Given the description of an element on the screen output the (x, y) to click on. 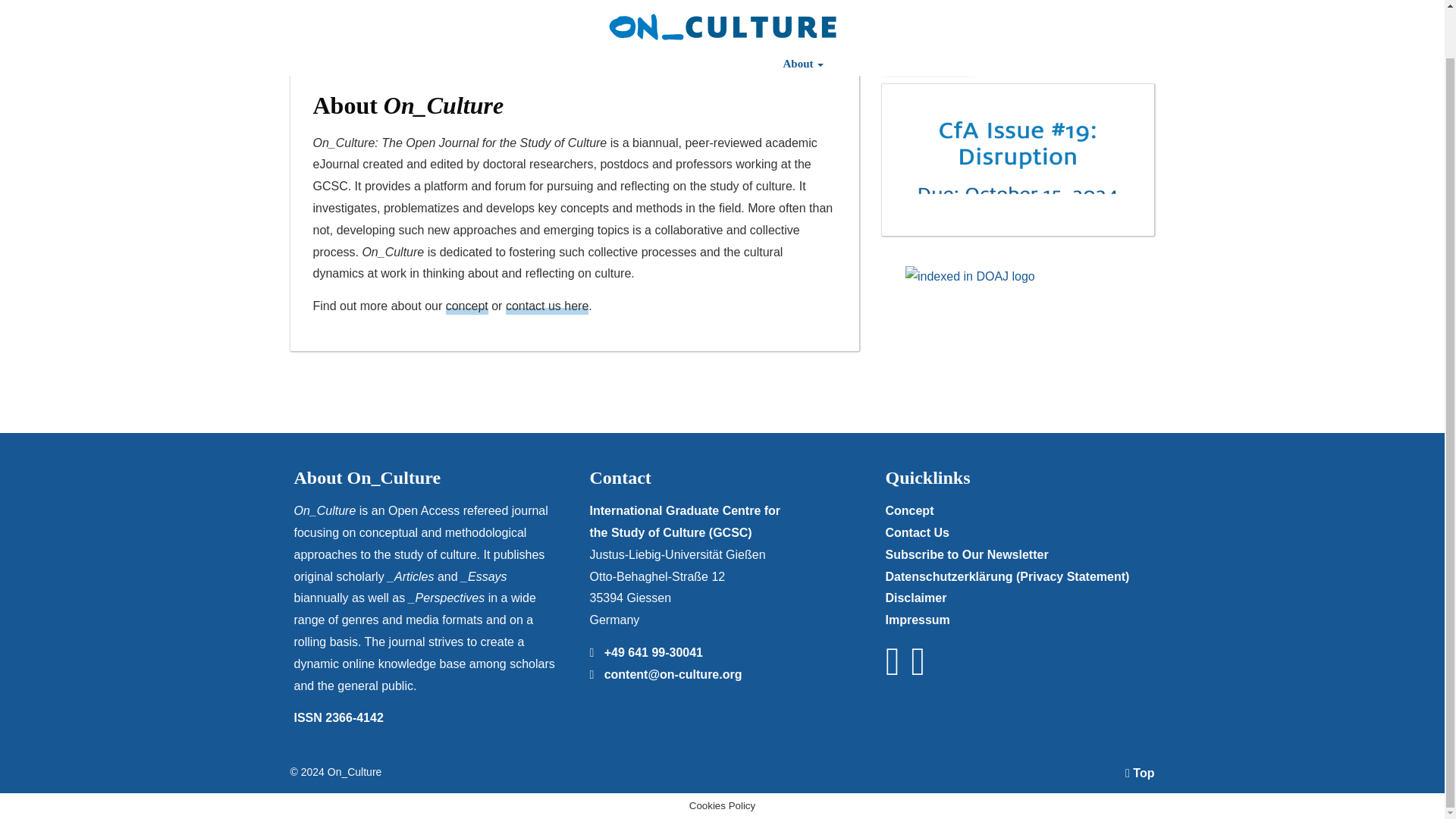
Contact Us (1008, 12)
The Journal (392, 12)
contact us here (546, 306)
Impressum (917, 619)
Submission (597, 12)
Concept (909, 510)
About (802, 12)
Disclaimer (915, 597)
Contact Us (917, 532)
Subscribe to Our Newsletter (966, 554)
